Given the description of an element on the screen output the (x, y) to click on. 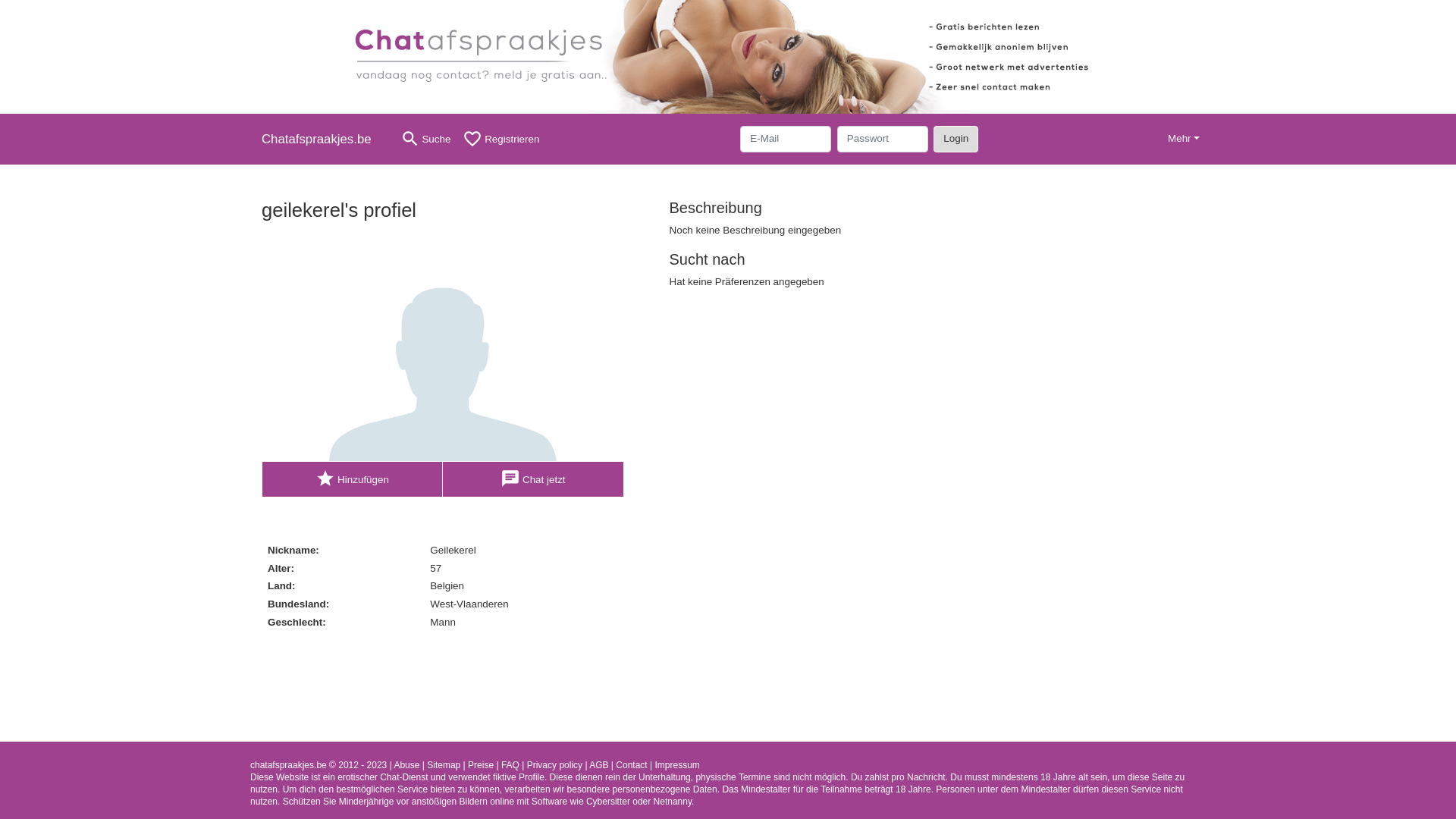
chat Chat jetzt Element type: text (533, 479)
Chatafspraakjes.be Element type: text (322, 138)
search
Suche Element type: text (425, 138)
Sitemap Element type: text (443, 764)
Mehr Element type: text (1183, 138)
AGB Element type: text (598, 764)
favorite_border
Registrieren Element type: text (500, 138)
Contact Element type: text (630, 764)
Abuse Element type: text (406, 764)
Privacy policy Element type: text (554, 764)
Preise Element type: text (480, 764)
Impressum Element type: text (676, 764)
Login Element type: text (955, 138)
FAQ Element type: text (510, 764)
